Given the description of an element on the screen output the (x, y) to click on. 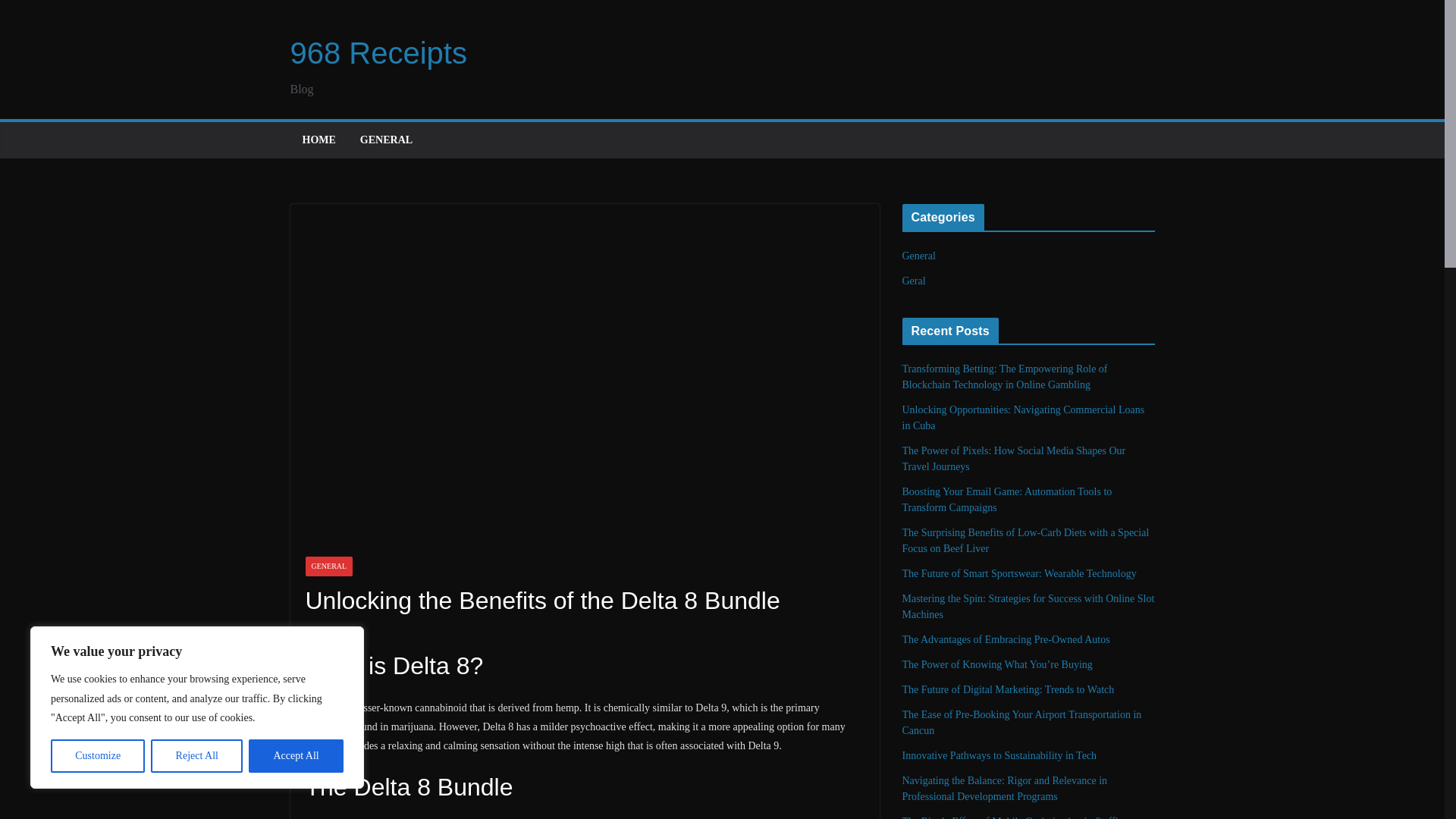
Unlocking Opportunities: Navigating Commercial Loans in Cuba (1023, 417)
968 Receipts (377, 52)
Accept All (295, 756)
HOME (317, 139)
The Advantages of Embracing Pre-Owned Autos (1005, 639)
Geral (914, 280)
The Future of Smart Sportswear: Wearable Technology (1019, 573)
GENERAL (385, 139)
General (919, 255)
